Given the description of an element on the screen output the (x, y) to click on. 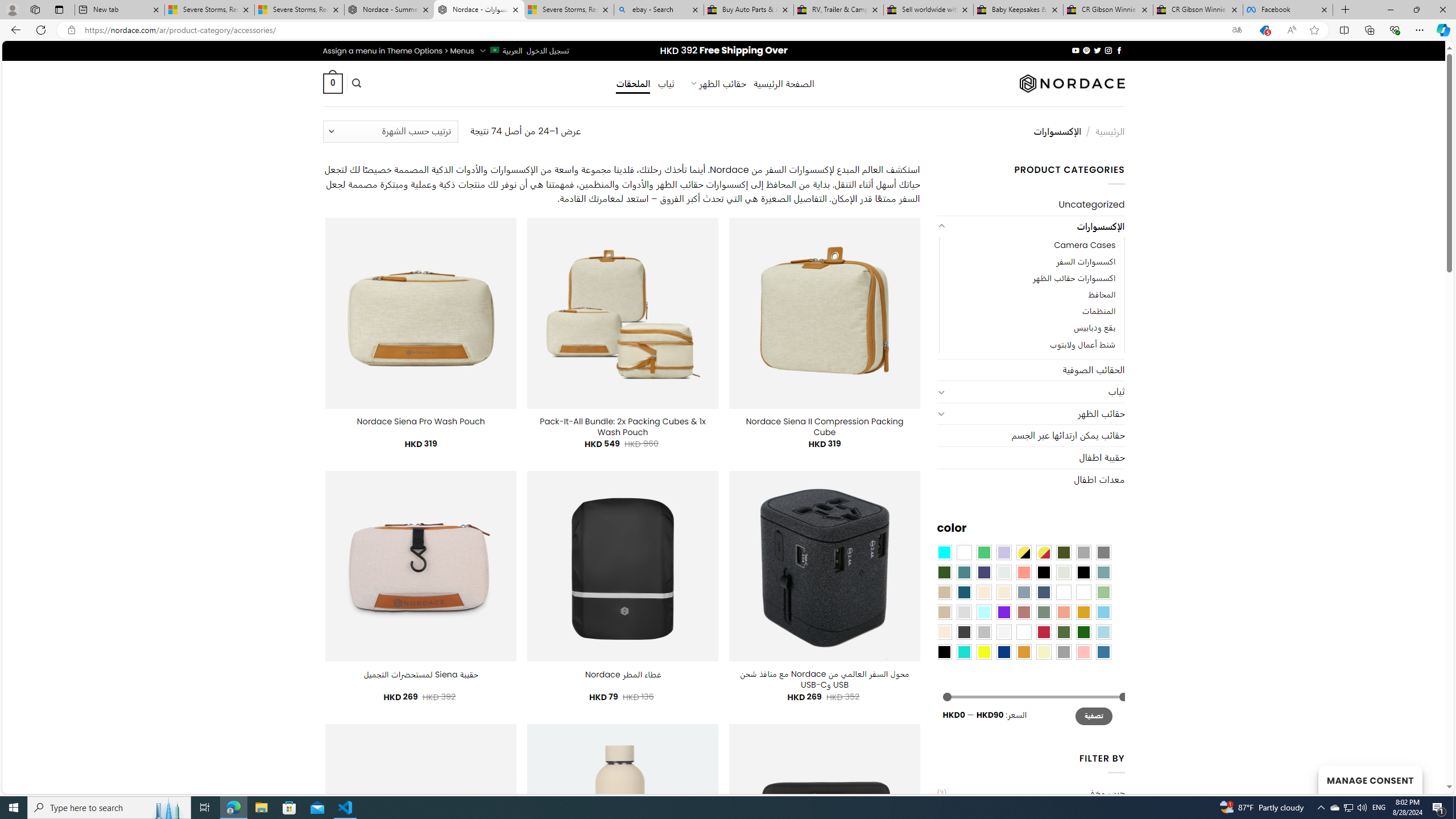
Pack-It-All Bundle: 2x Packing Cubes & 1x Wash Pouch (621, 427)
Aqua Blue (944, 551)
Light-Gray (963, 611)
Facebook (1287, 9)
Refresh (40, 29)
Brownie (944, 591)
Rose (1023, 611)
Personal Profile (12, 9)
Nordace Siena Pro Wash Pouch (420, 421)
Camera Cases (1031, 245)
Hale Navy (1043, 591)
